Given the description of an element on the screen output the (x, y) to click on. 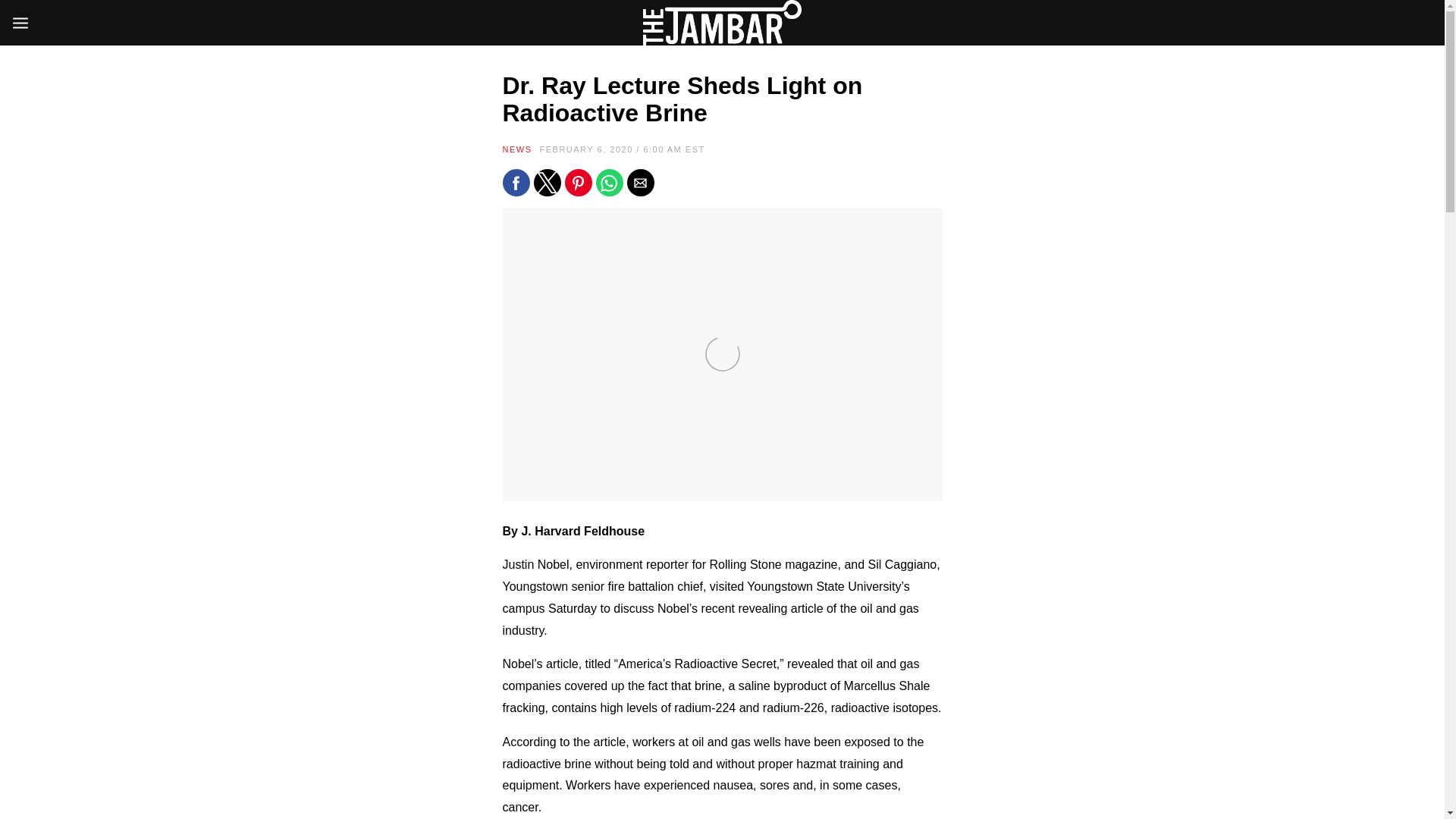
NEWS (516, 148)
View all posts in News (516, 148)
